Given the description of an element on the screen output the (x, y) to click on. 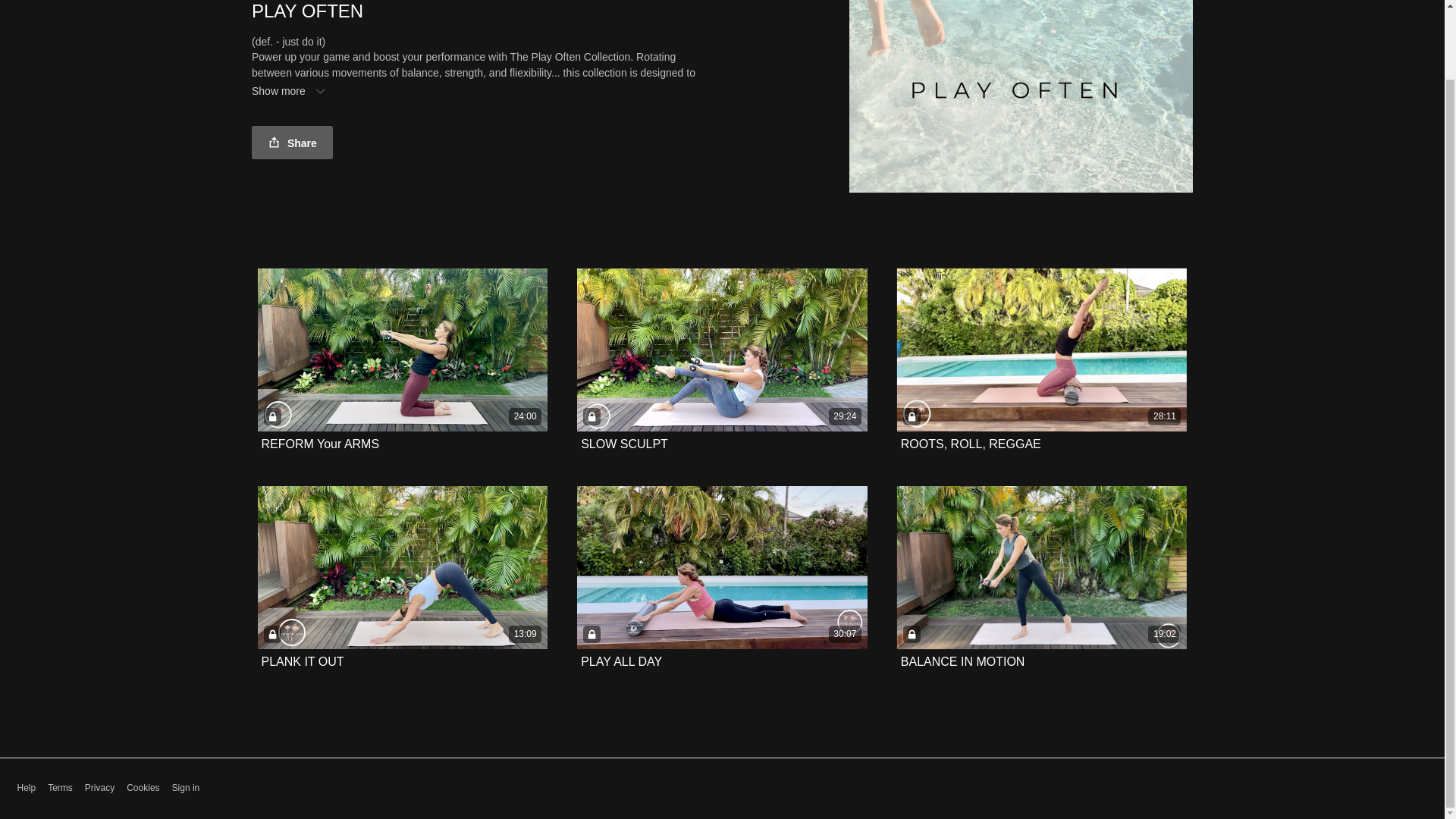
Share (292, 142)
Cookies (142, 788)
Terms (60, 788)
REFORM Your ARMS (319, 443)
PLAY ALL DAY (621, 661)
BALANCE IN MOTION  (963, 661)
ROOTS, ROLL, REGGAE (971, 444)
Help (25, 788)
SLOW SCULPT (624, 443)
29:24 (721, 349)
Privacy (99, 788)
PLANK IT OUT (301, 661)
PLAY ALL DAY (621, 662)
28:11 (1042, 349)
BALANCE IN MOTION (963, 662)
